Given the description of an element on the screen output the (x, y) to click on. 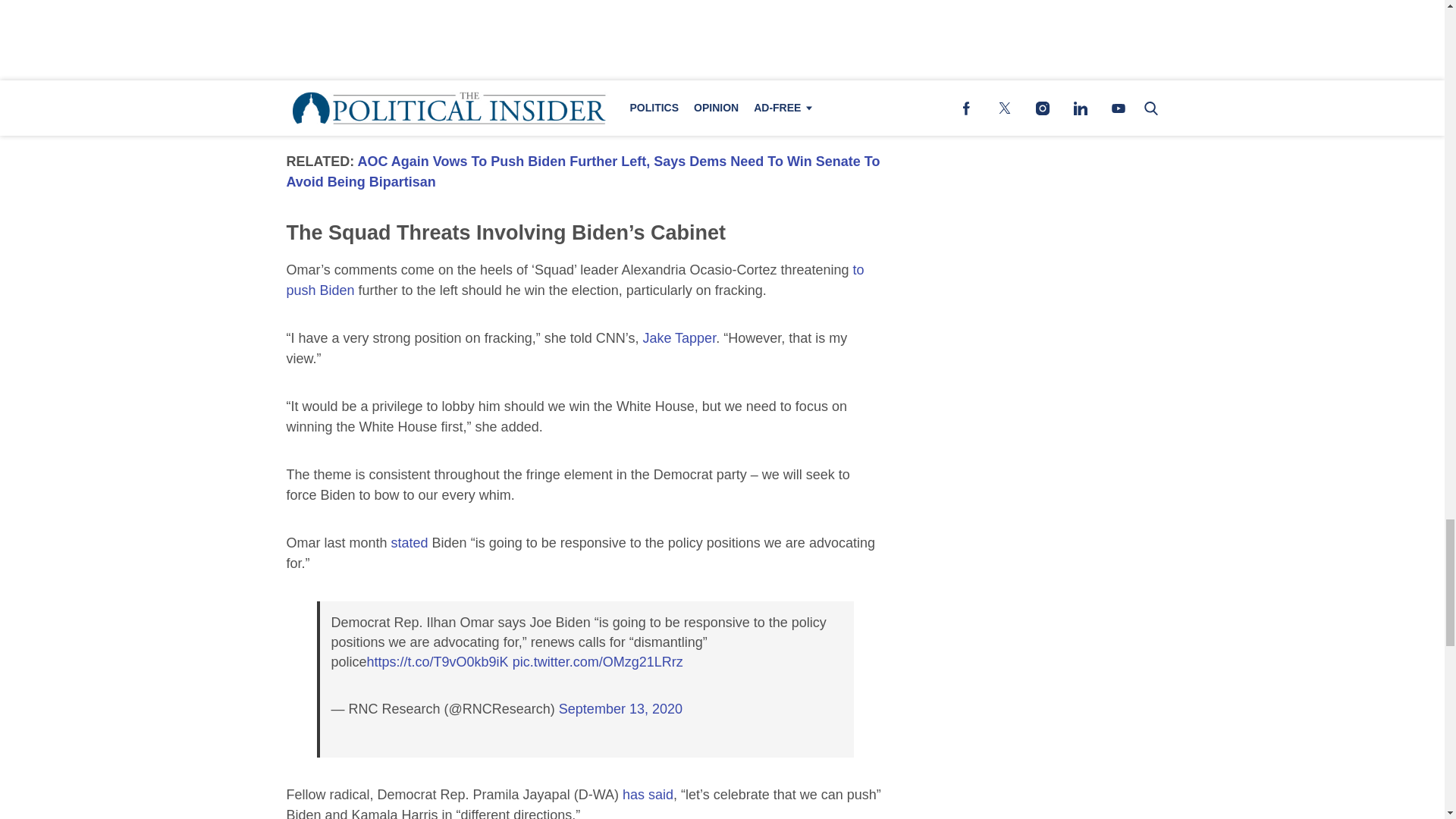
has said (647, 794)
to push Biden (575, 280)
October 25, 2020 (551, 74)
stated (409, 542)
Jake Tapper (679, 337)
September 13, 2020 (620, 708)
